Given the description of an element on the screen output the (x, y) to click on. 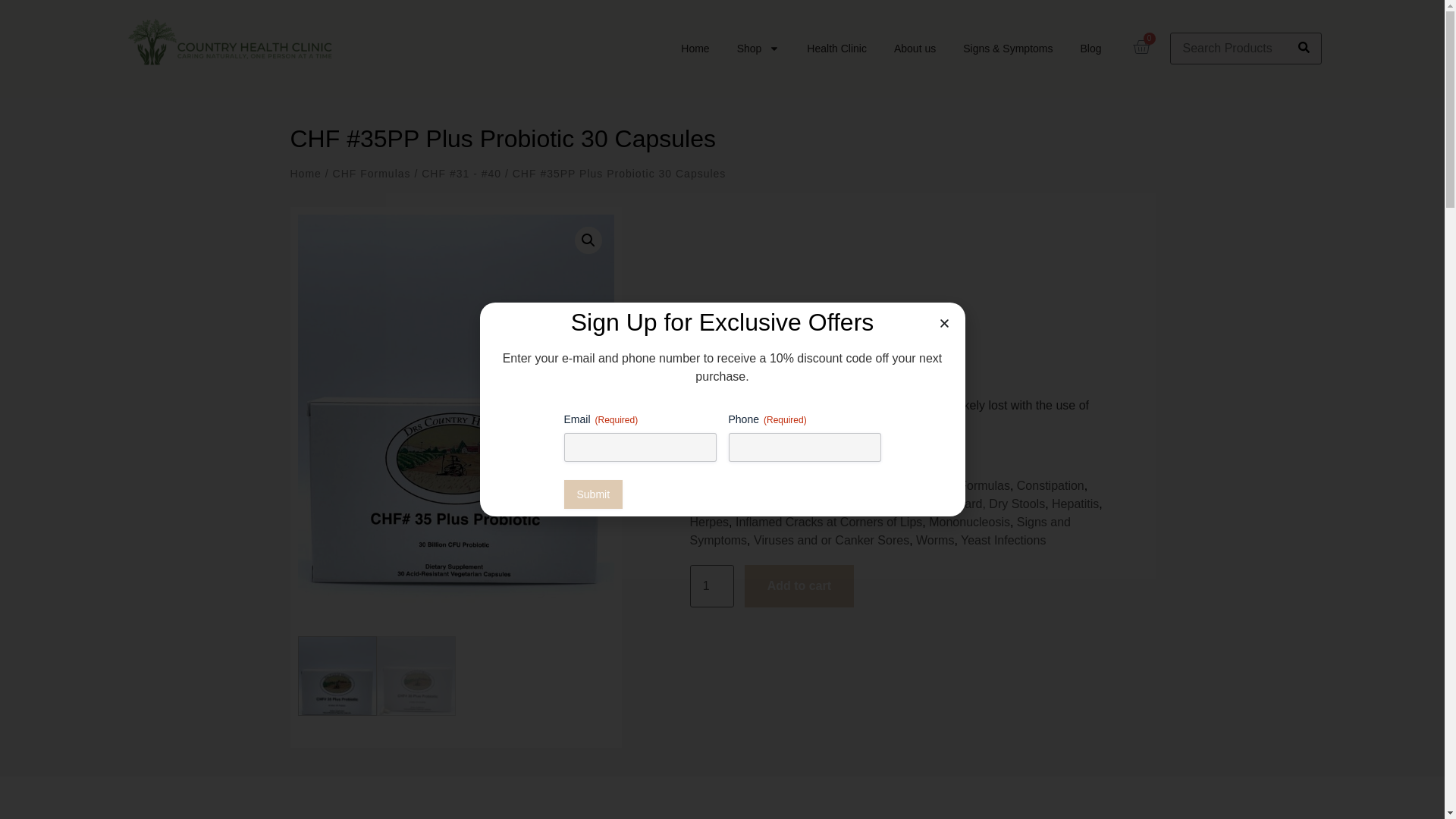
Blog (1090, 48)
Shop (758, 48)
About us (914, 48)
Health Clinic (836, 48)
Submit (593, 493)
0 (1135, 48)
1 (711, 586)
Home (695, 48)
